Given the description of an element on the screen output the (x, y) to click on. 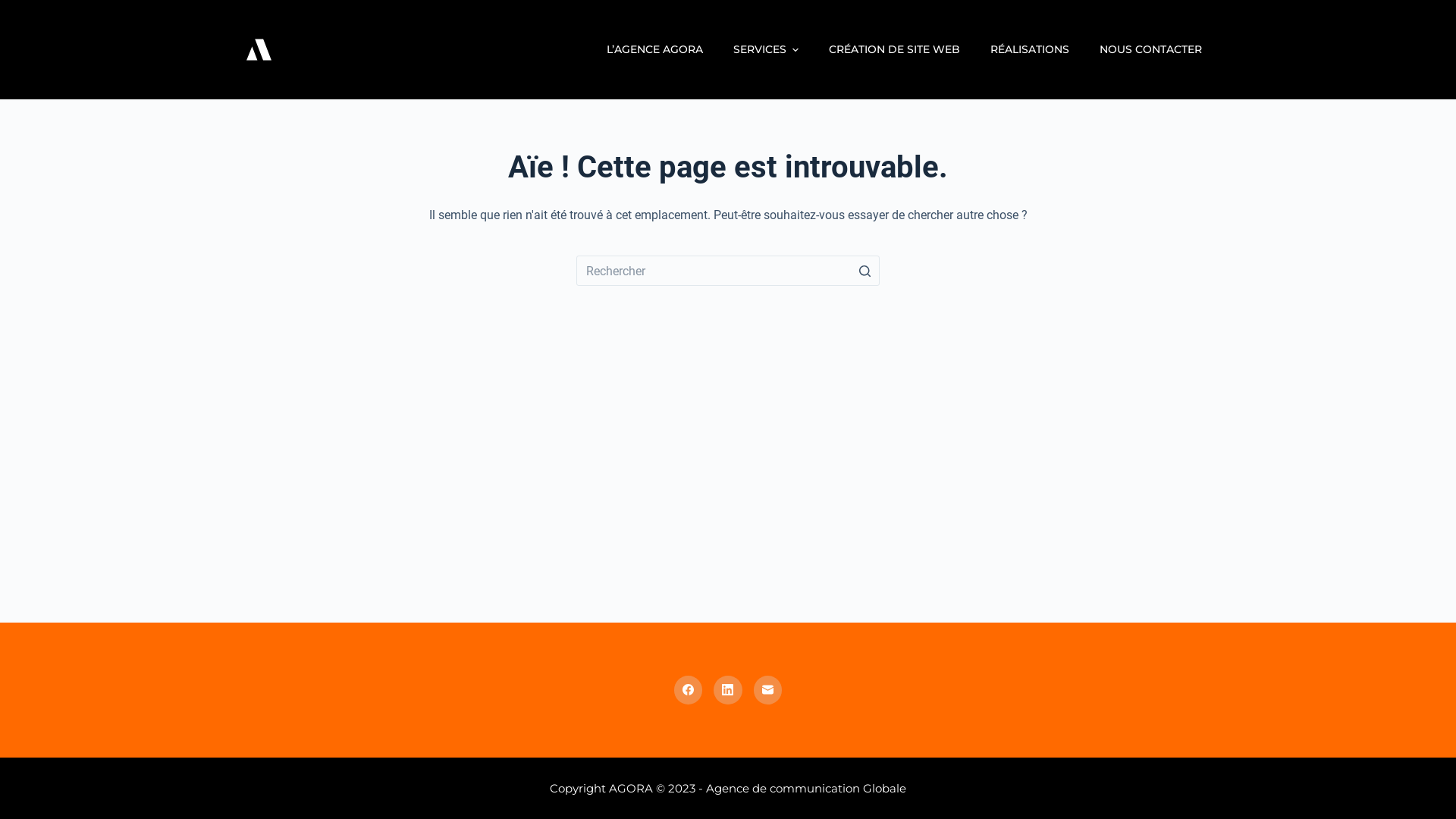
Passer au contenu Element type: text (15, 7)
SERVICES Element type: text (765, 49)
NOUS CONTACTER Element type: text (1150, 49)
